Given the description of an element on the screen output the (x, y) to click on. 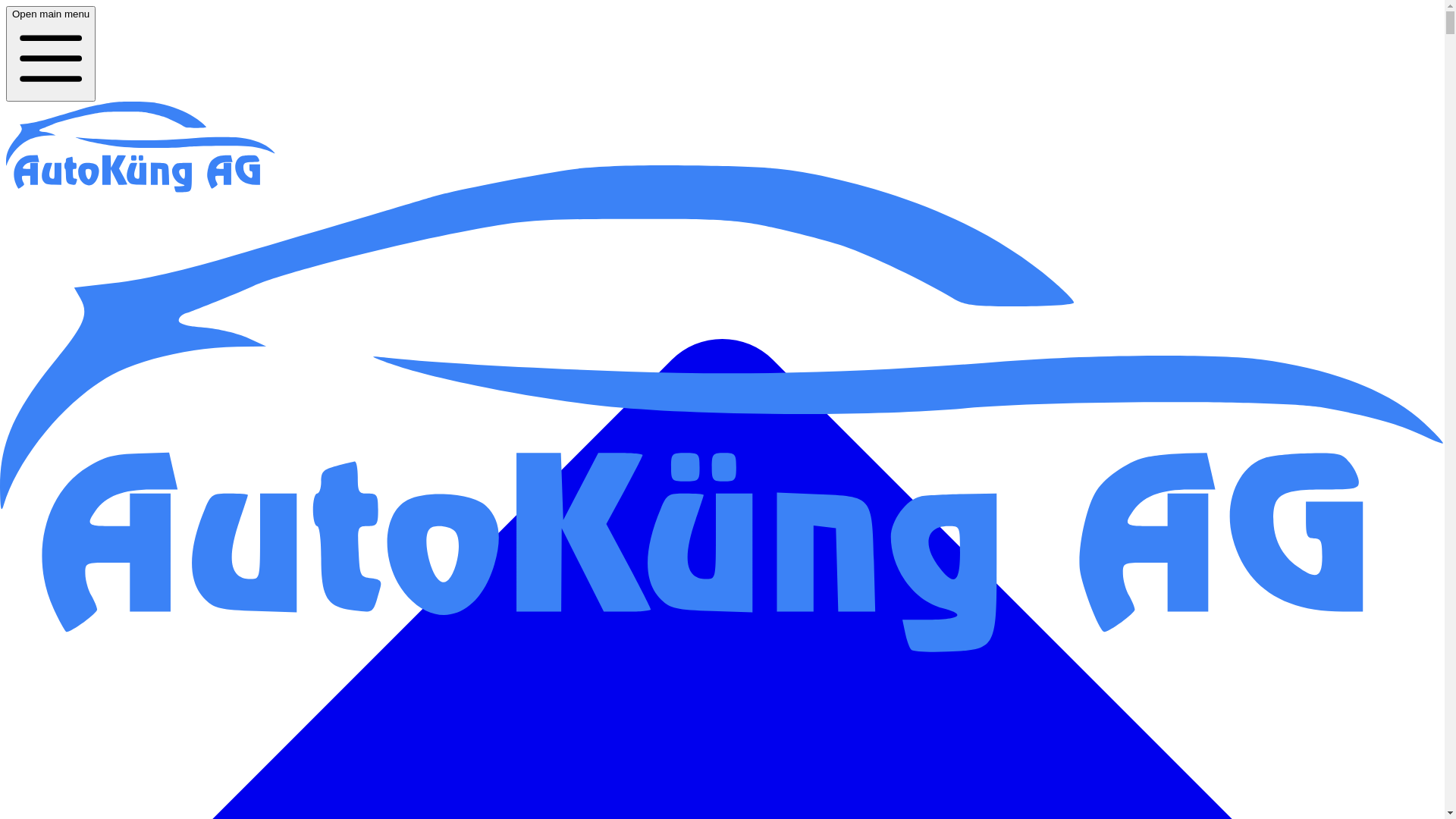
Open main menu Element type: text (50, 53)
